Given the description of an element on the screen output the (x, y) to click on. 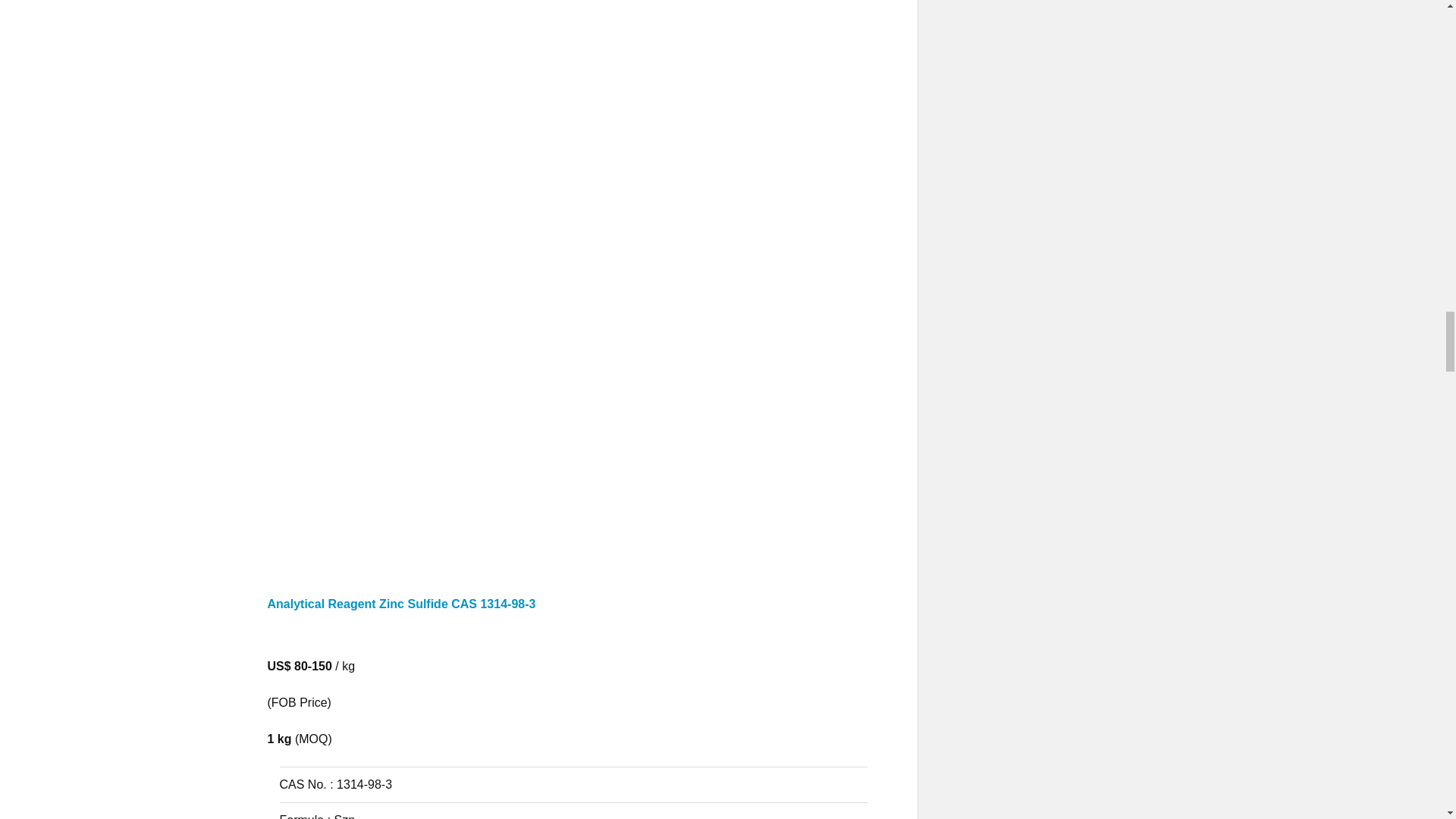
Analytical Reagent Zinc Sulfide CAS 1314-98-3 (566, 617)
